Given the description of an element on the screen output the (x, y) to click on. 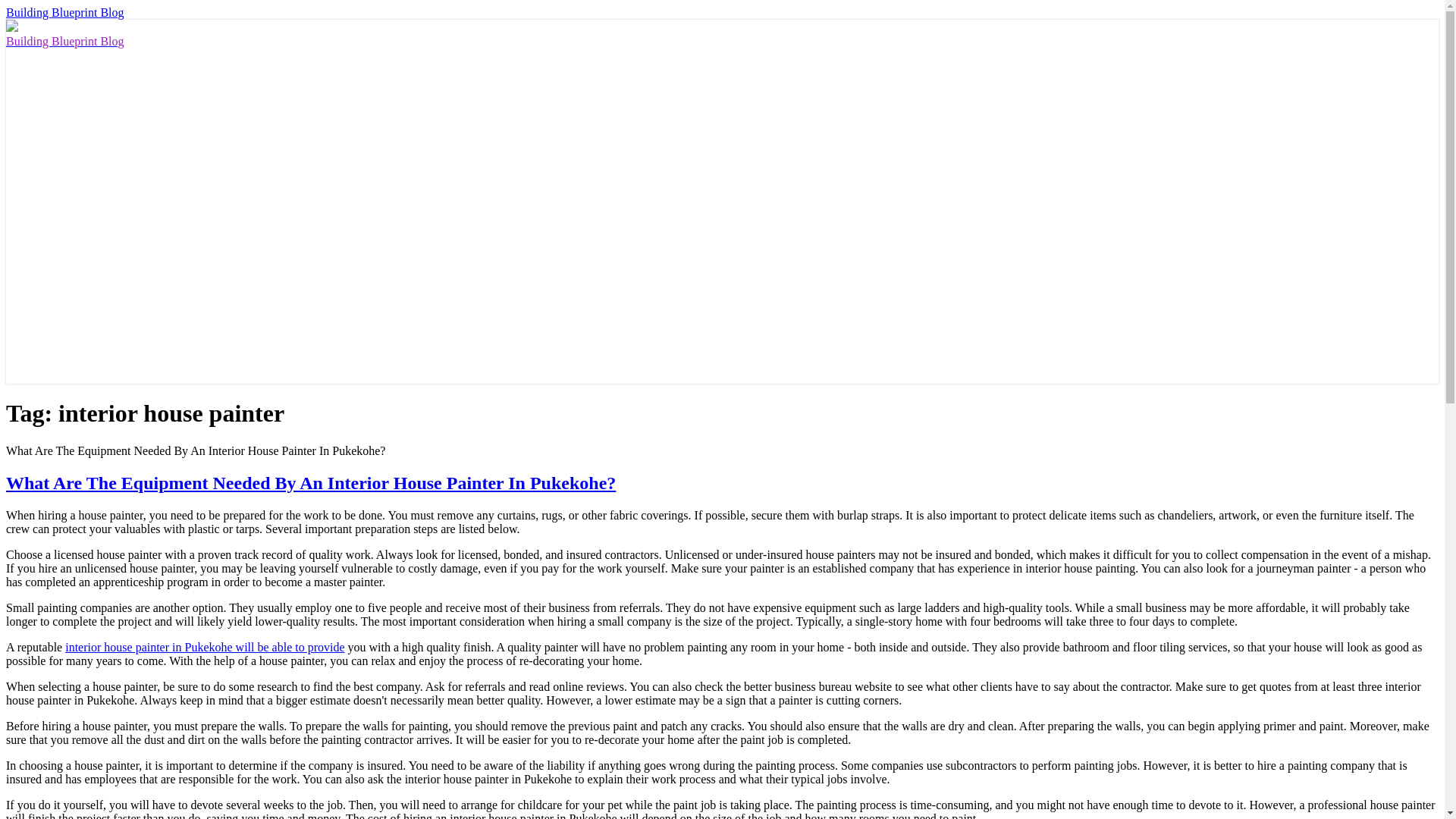
Building Blueprint Blog (64, 11)
interior house painter in Pukekohe will be able to provide (204, 646)
